Given the description of an element on the screen output the (x, y) to click on. 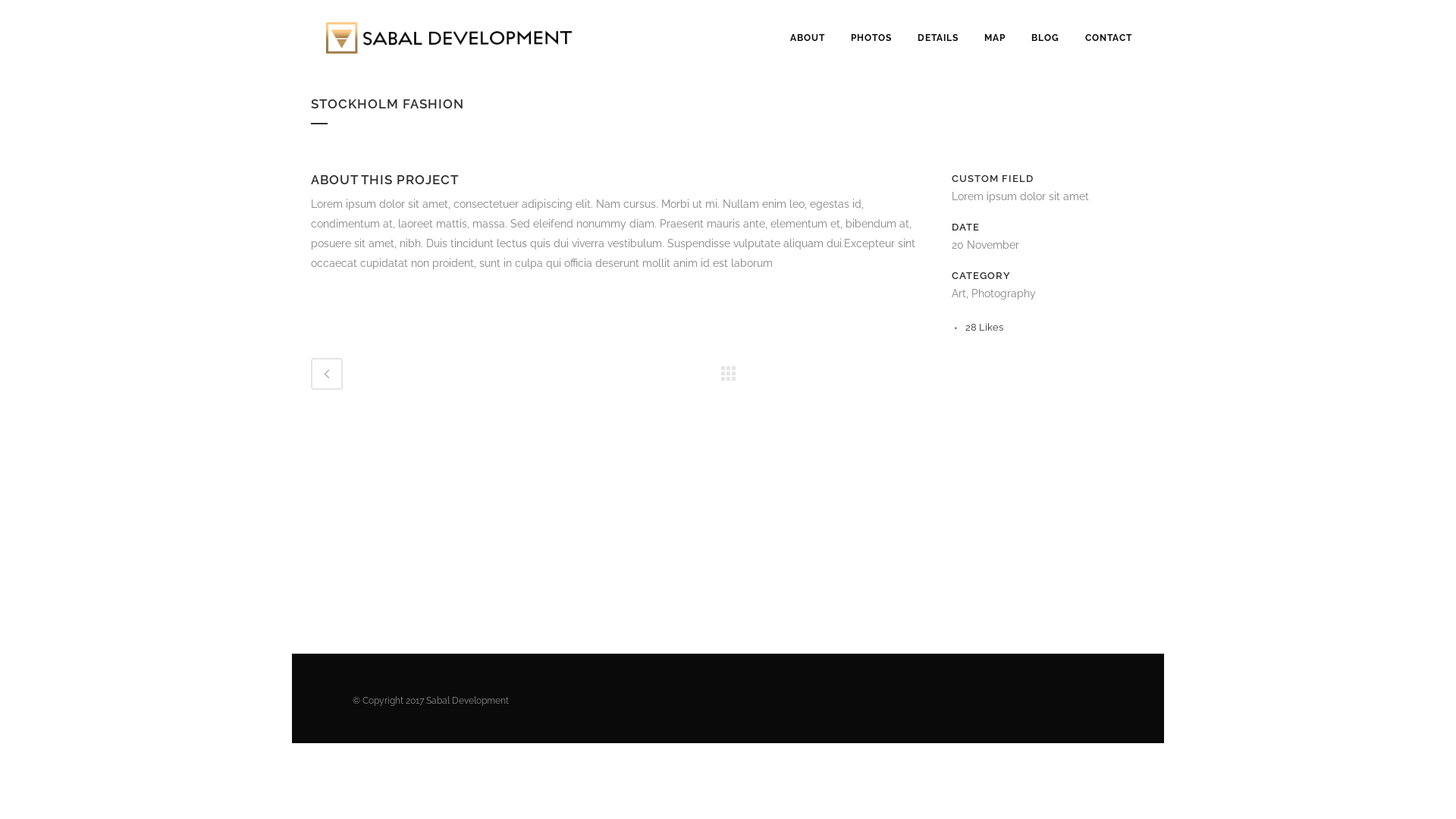
PHOTOS Element type: text (870, 37)
CONTACT Element type: text (1108, 37)
Stockholm Fashion Element type: hover (314, 161)
Stockholm Fashion Element type: hover (311, 161)
ABOUT Element type: text (807, 37)
BLOG Element type: text (1045, 37)
DETAILS Element type: text (937, 37)
28 Likes Element type: text (984, 327)
MAP Element type: text (994, 37)
